Given the description of an element on the screen output the (x, y) to click on. 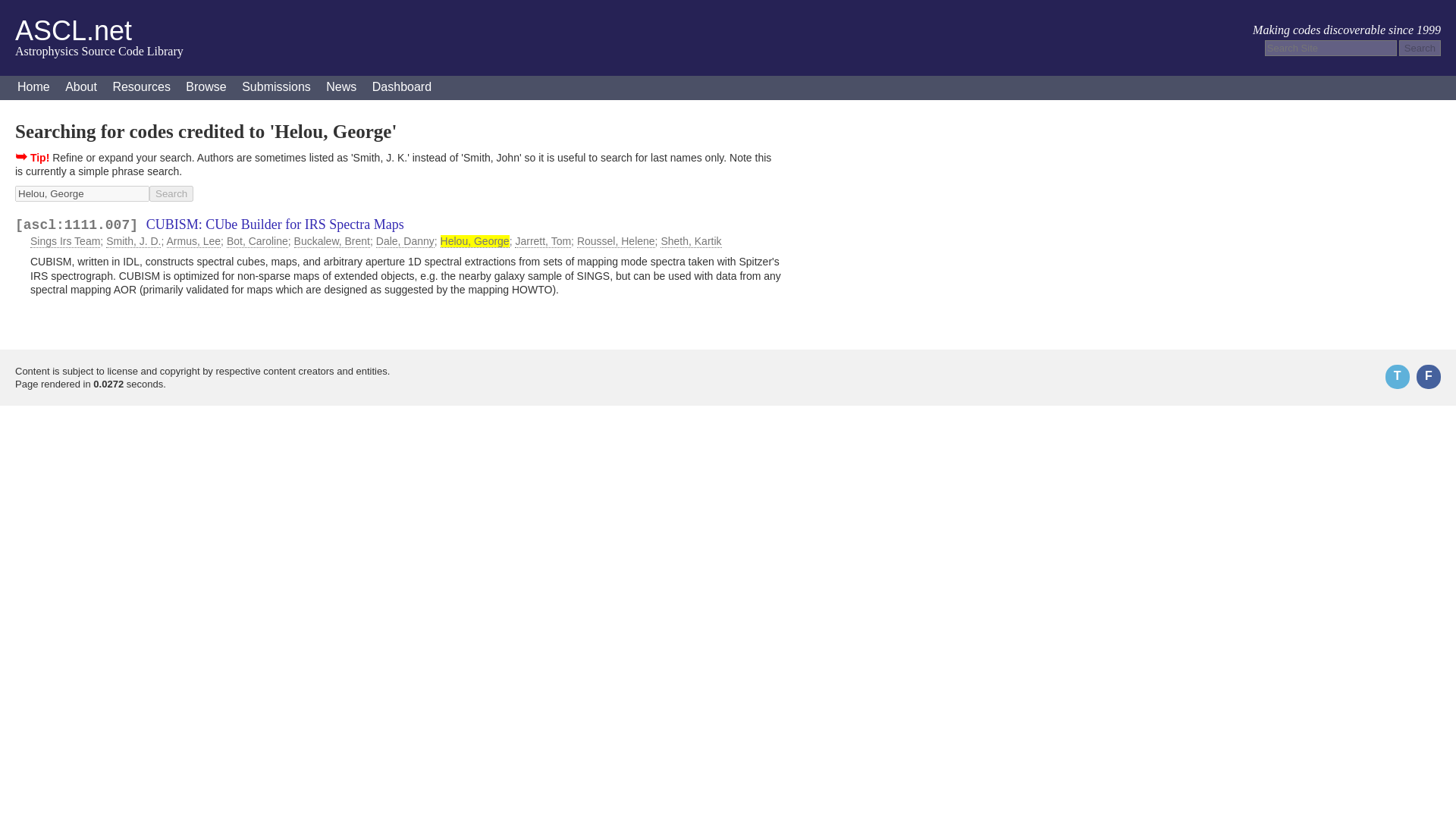
Search (1420, 48)
F (1428, 376)
Home (33, 87)
Search (1420, 48)
Jarrett, Tom (542, 241)
Resources (141, 87)
Smith, J. D. (133, 241)
Roussel, Helene (615, 241)
Browse (205, 87)
Dale, Danny (404, 241)
Dashboard (402, 87)
CUBISM: CUbe Builder for IRS Spectra Maps (275, 224)
Buckalew, Brent (331, 241)
About (81, 87)
Sheth, Kartik (690, 241)
